Given the description of an element on the screen output the (x, y) to click on. 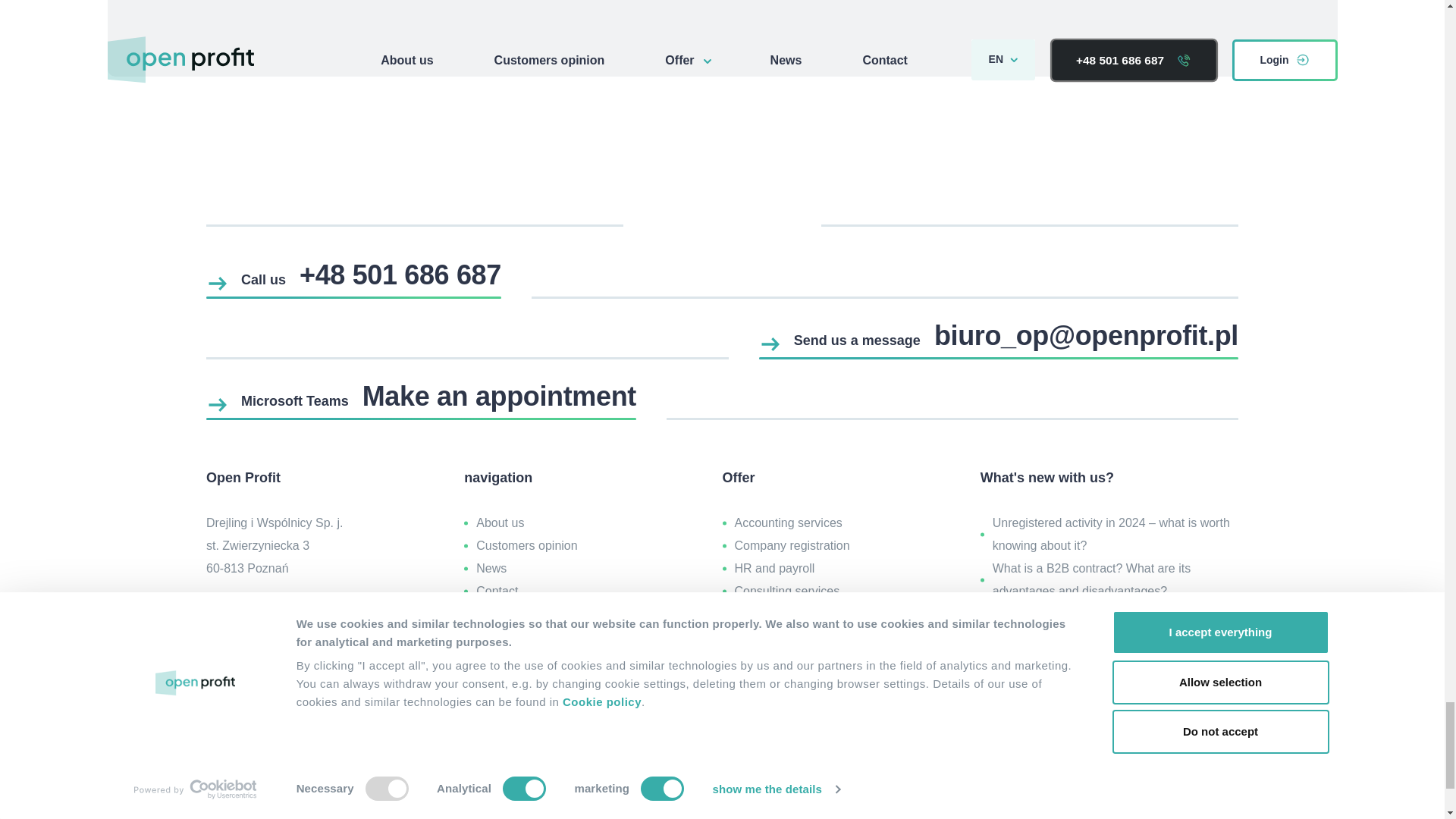
accounting and tax office, online accounting services (722, 697)
